Given the description of an element on the screen output the (x, y) to click on. 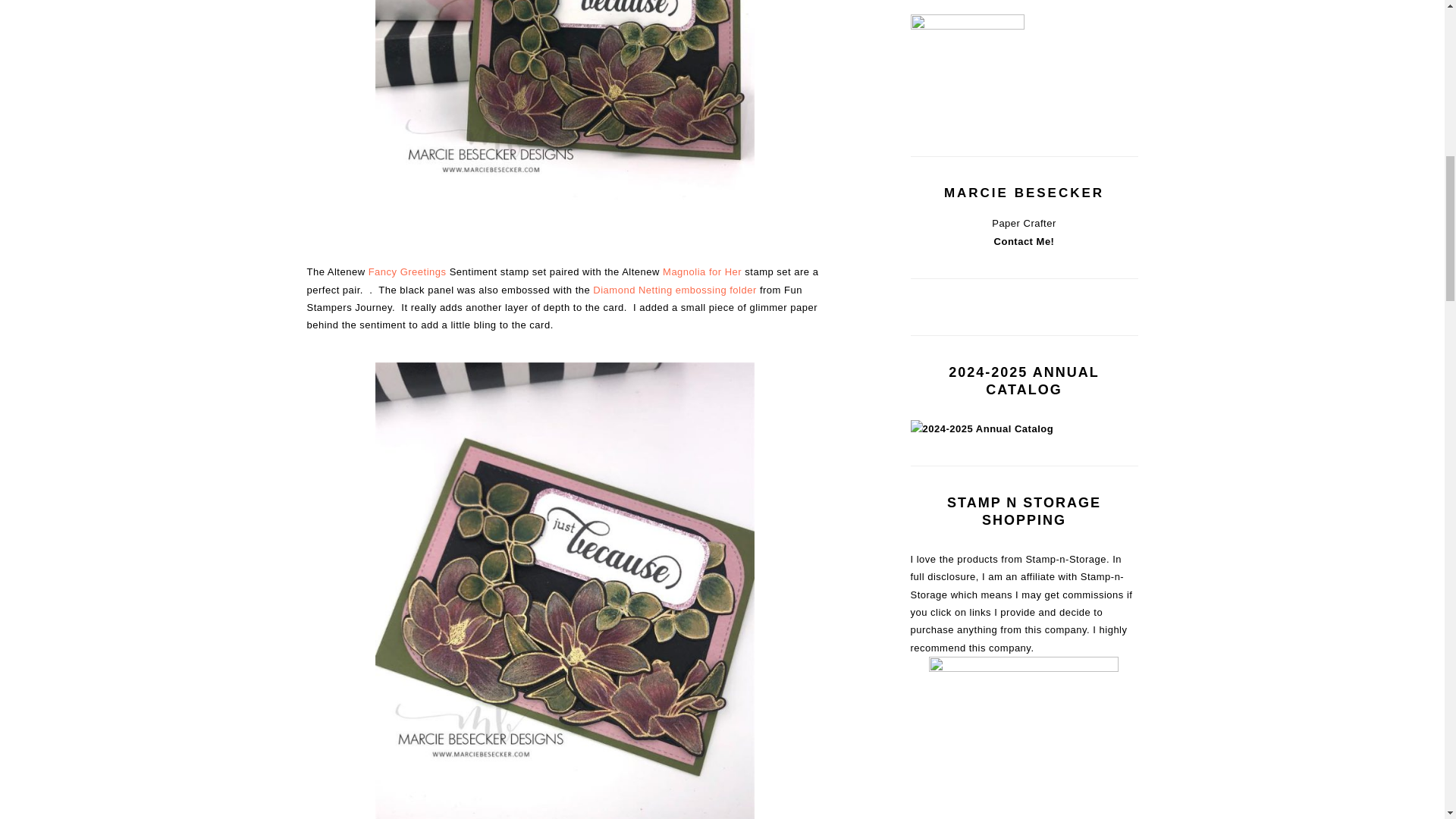
2024-2025 Annual Catalog (981, 428)
Fancy Greetings (407, 271)
Magnolia for Her (701, 271)
Diamond Netting embossing folder (673, 289)
